Given the description of an element on the screen output the (x, y) to click on. 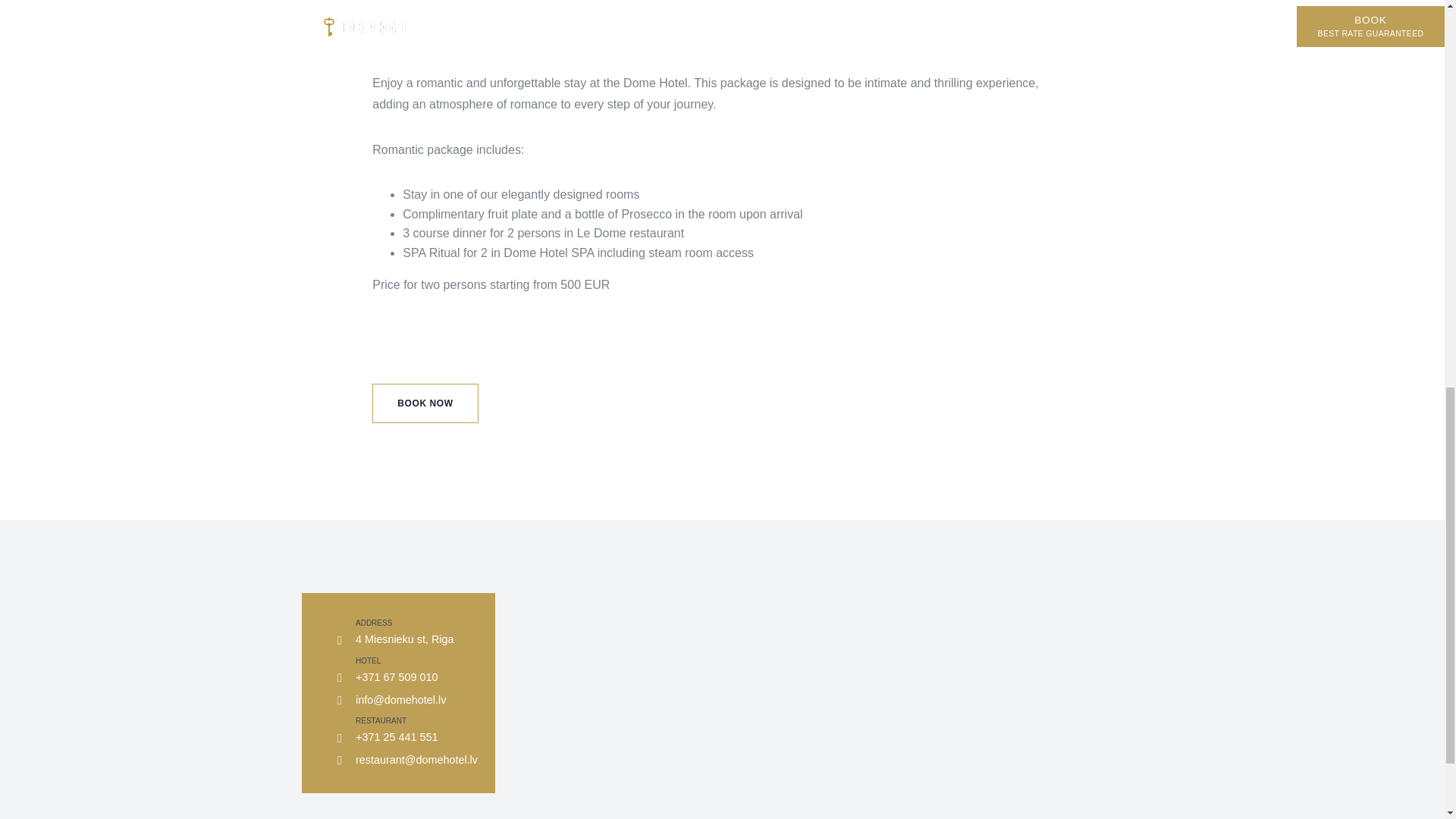
Book now (424, 403)
BOOK NOW (424, 403)
4 Miesnieku st, Riga (404, 639)
